Given the description of an element on the screen output the (x, y) to click on. 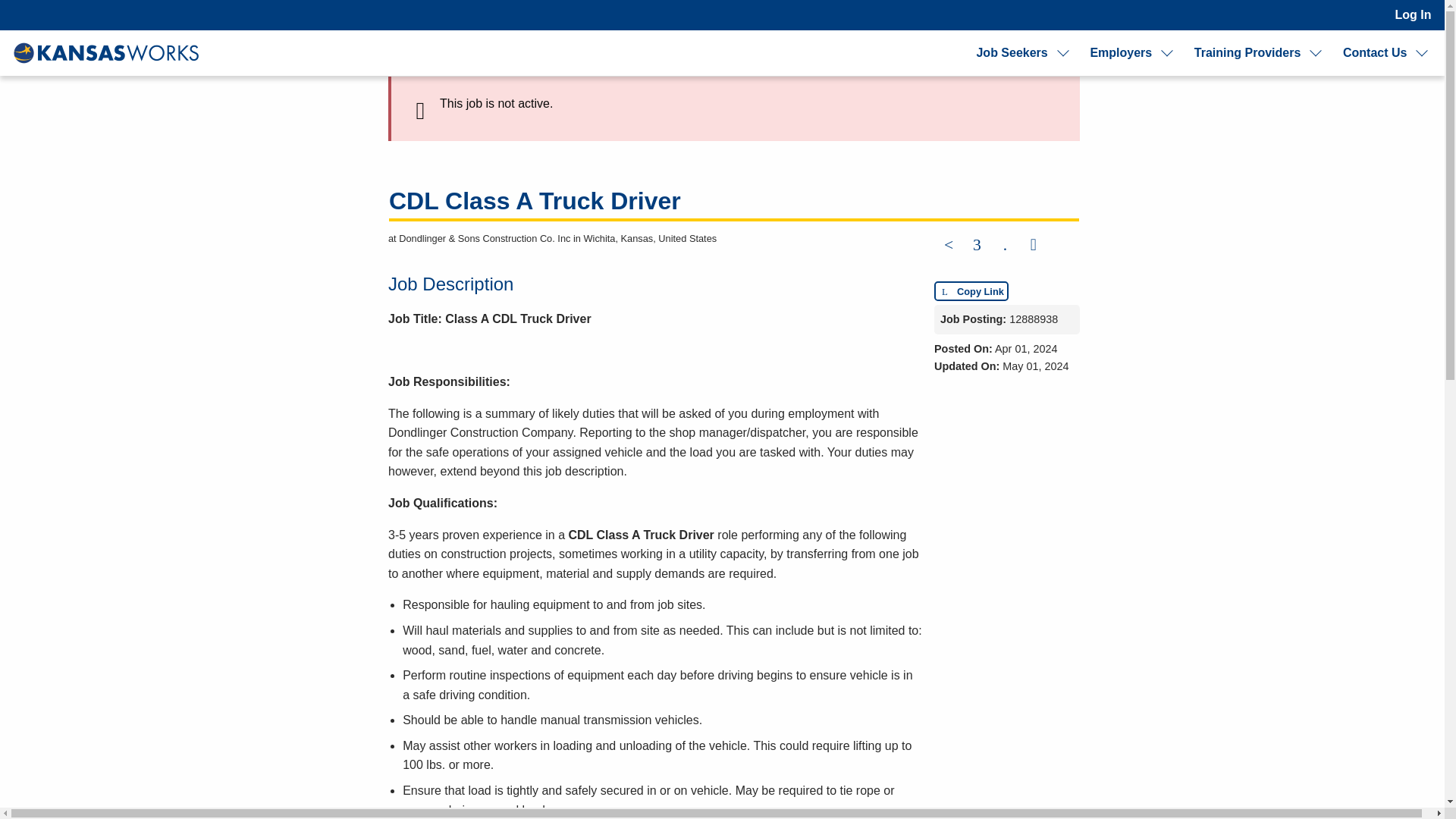
Training Providers (1246, 53)
Job Seekers (1010, 53)
Share this Job on Twitter (976, 245)
Employers (1120, 53)
Contact Us (1374, 53)
Copy Link (971, 291)
Share this Job on LinkedIn (1004, 245)
Share this Job on Facebook (948, 245)
Log In (1412, 15)
Email this Job (1033, 245)
